Given the description of an element on the screen output the (x, y) to click on. 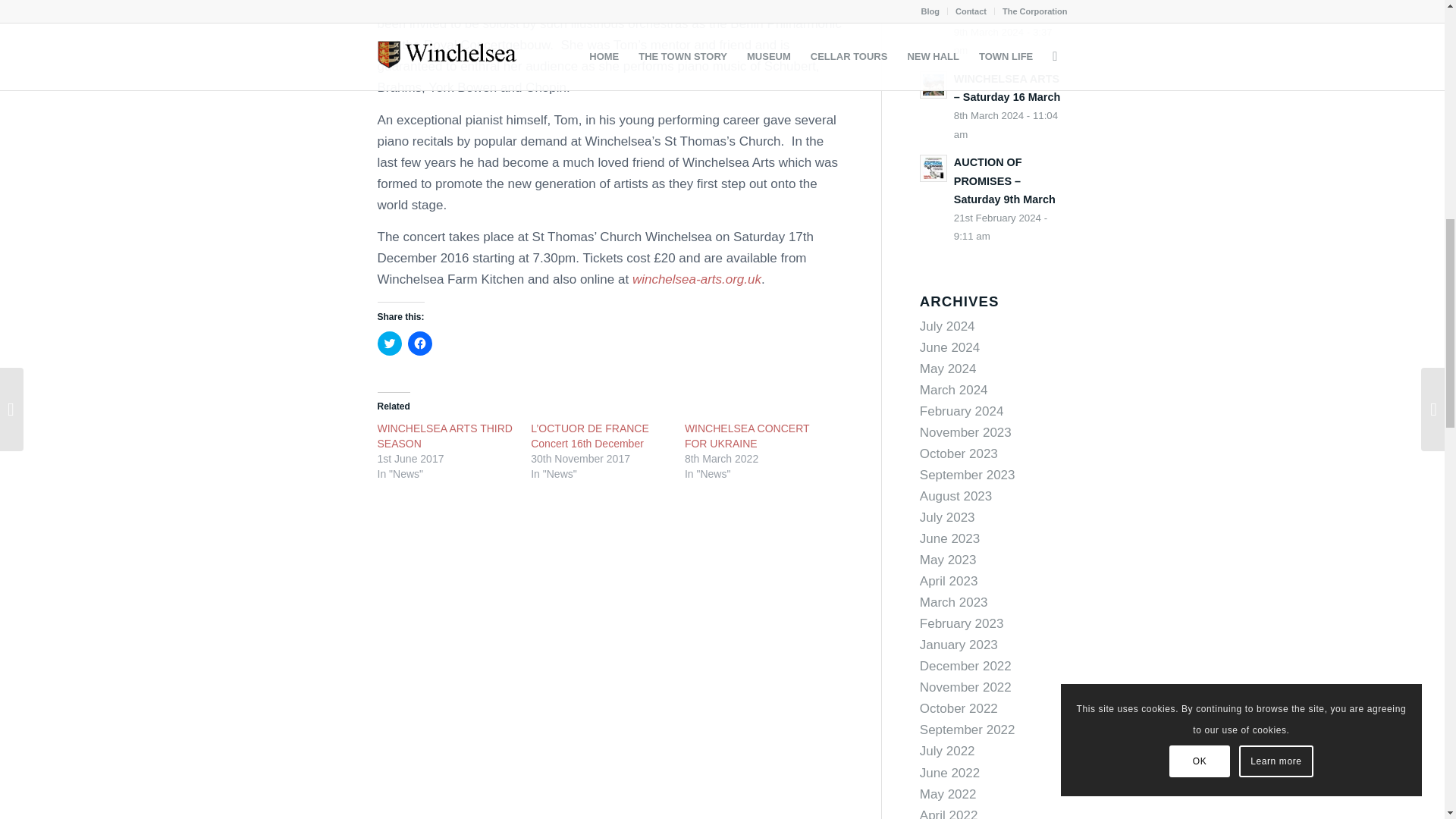
WINCHELSEA ARTS THIRD SEASON (444, 435)
Click to share on Twitter (389, 343)
Click to share on Facebook (419, 343)
